Given the description of an element on the screen output the (x, y) to click on. 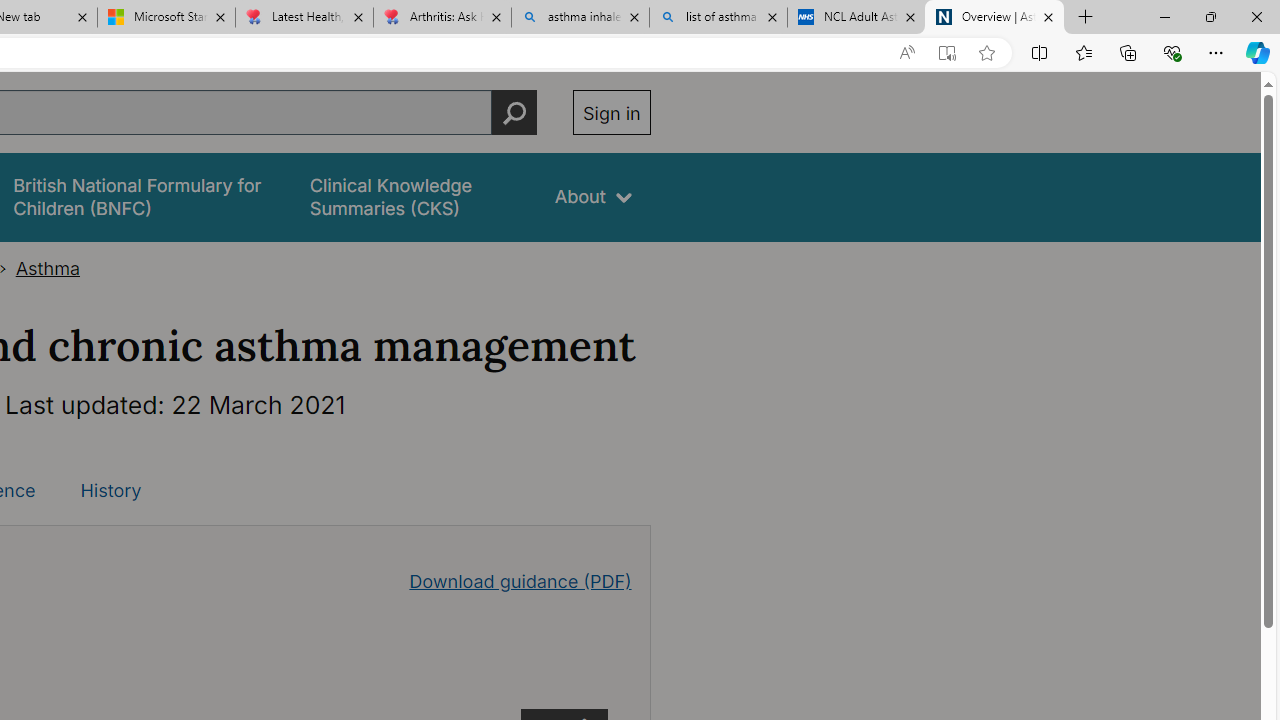
NCL Adult Asthma Inhaler Choice Guideline (856, 17)
list of asthma inhalers uk - Search (718, 17)
Asthma (47, 268)
Asthma (47, 268)
Arthritis: Ask Health Professionals (441, 17)
asthma inhaler - Search (580, 17)
